Given the description of an element on the screen output the (x, y) to click on. 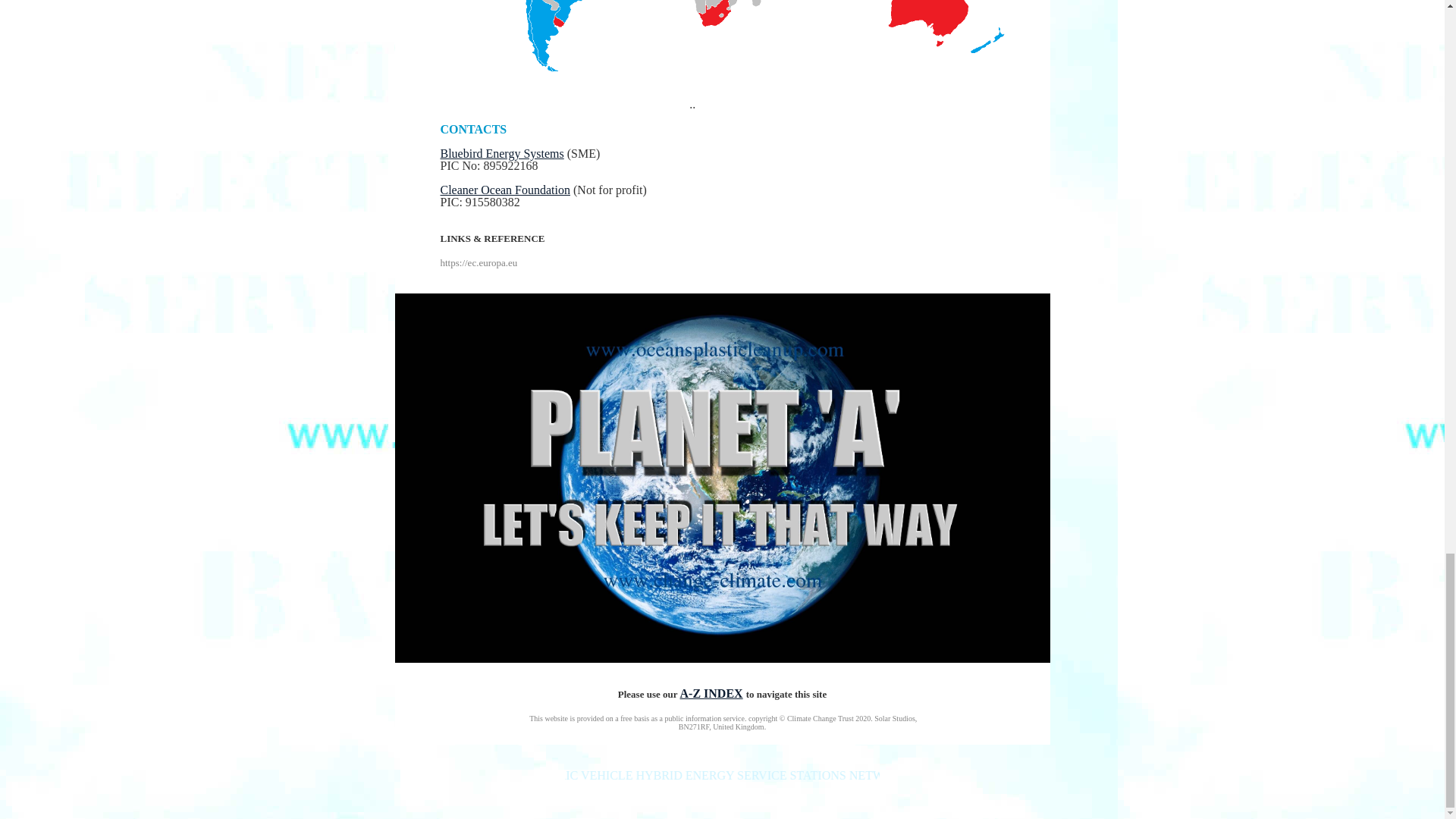
Cleaner Ocean Foundation (504, 189)
A-Z INDEX (710, 693)
Bluebird Energy Systems (501, 153)
